Given the description of an element on the screen output the (x, y) to click on. 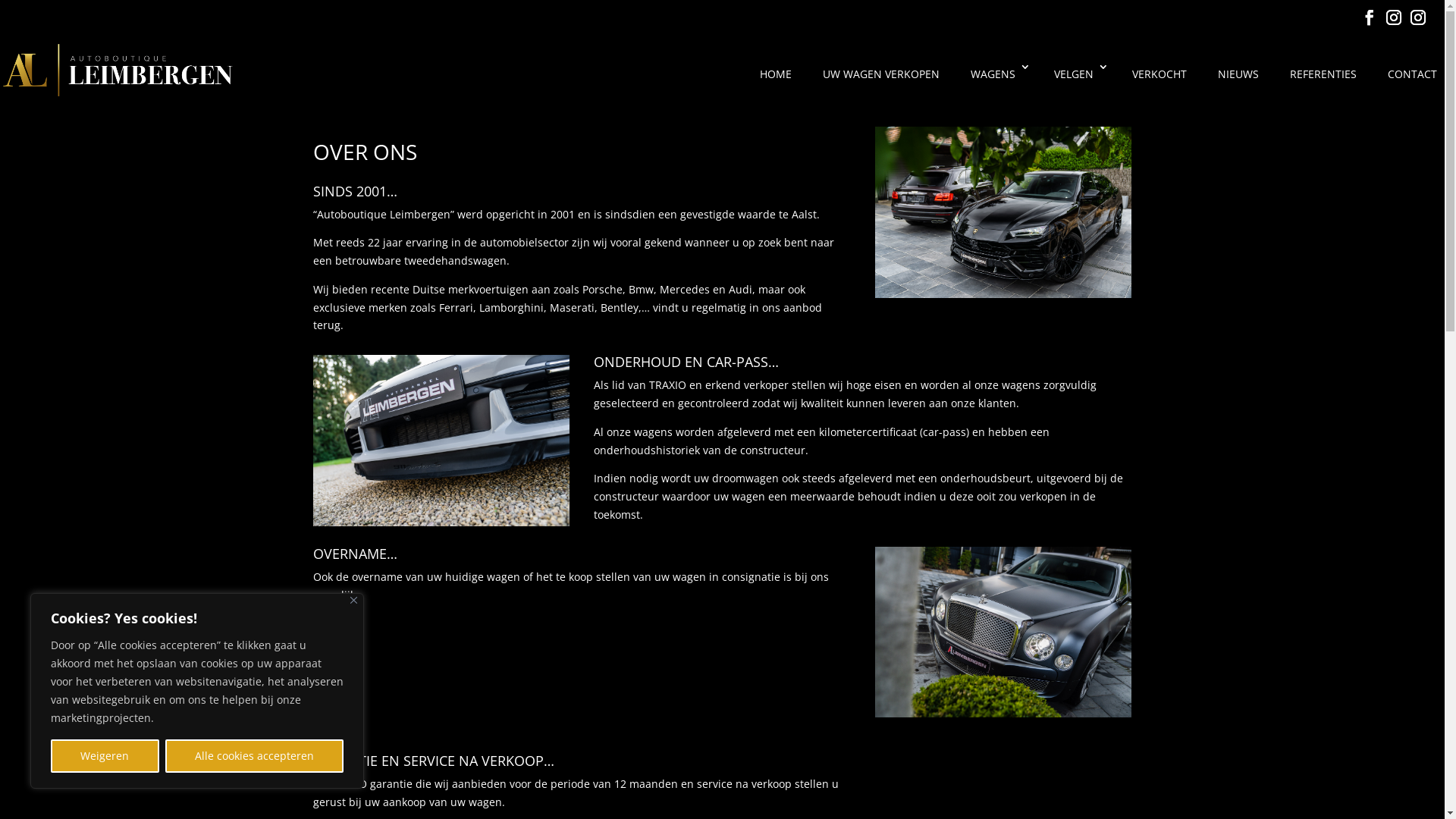
CONTACT Element type: text (1410, 83)
VELGEN Element type: text (1075, 83)
VERKOCHT Element type: text (1157, 83)
Alle cookies accepteren Element type: text (254, 755)
UW WAGEN VERKOPEN Element type: text (879, 83)
REFERENTIES Element type: text (1321, 83)
Weigeren Element type: text (104, 755)
HOME Element type: text (773, 83)
WAGENS Element type: text (994, 83)
NIEUWS Element type: text (1236, 83)
